Given the description of an element on the screen output the (x, y) to click on. 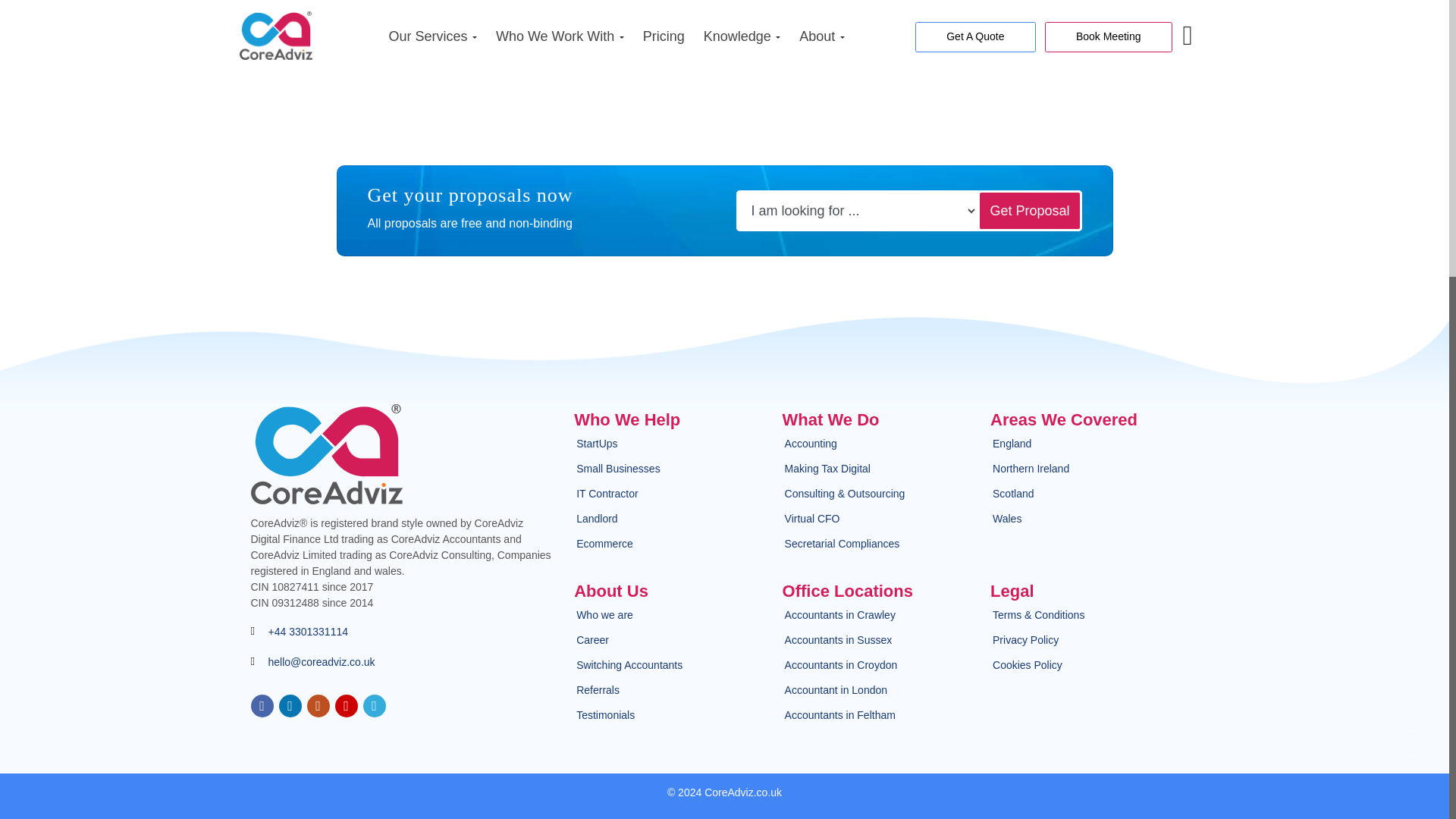
Scroll to top (1411, 751)
